Given the description of an element on the screen output the (x, y) to click on. 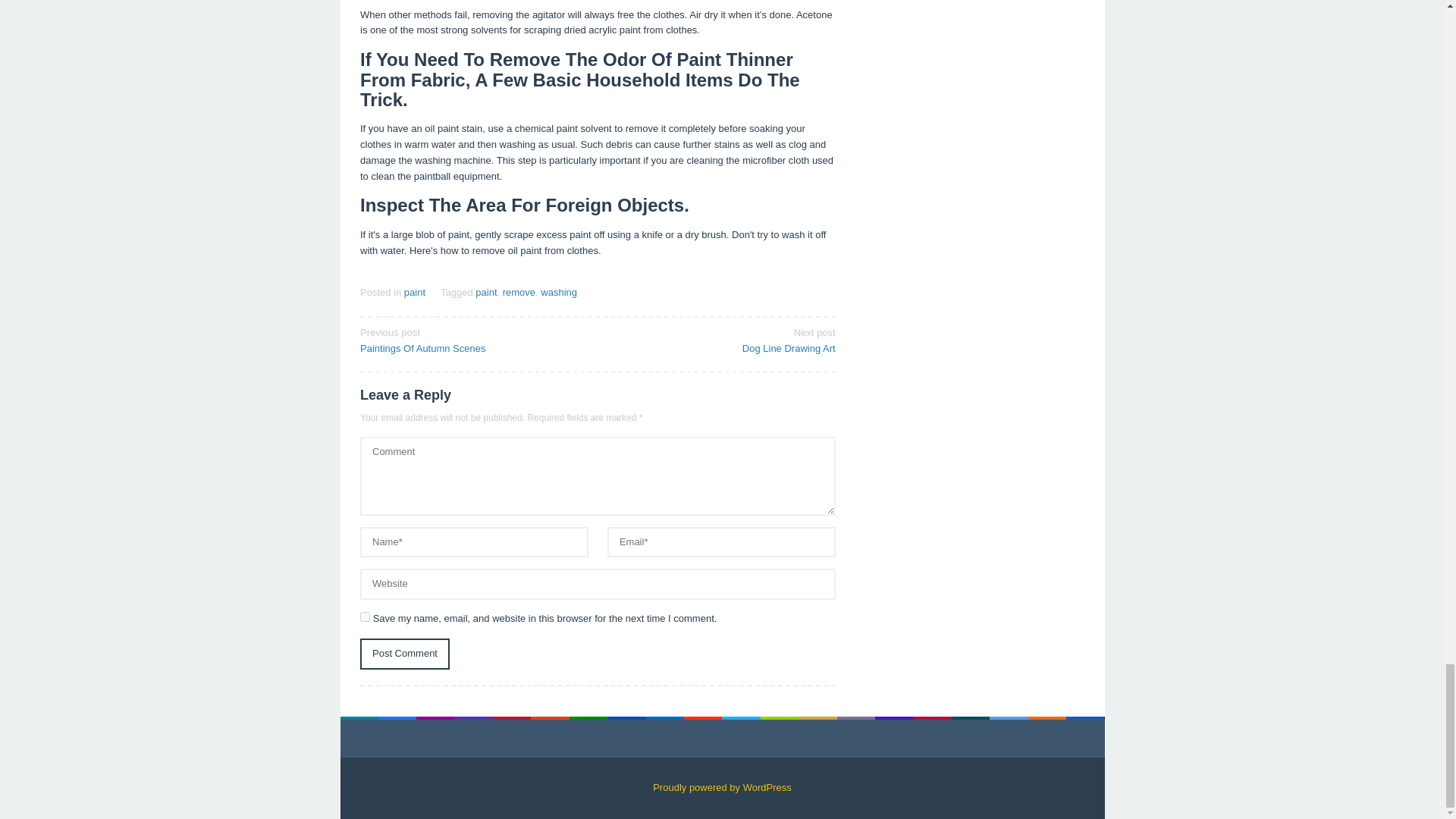
washing (558, 292)
yes (364, 616)
Post Comment (404, 653)
Post Comment (721, 339)
paint (404, 653)
remove (414, 292)
paint (518, 292)
